Given the description of an element on the screen output the (x, y) to click on. 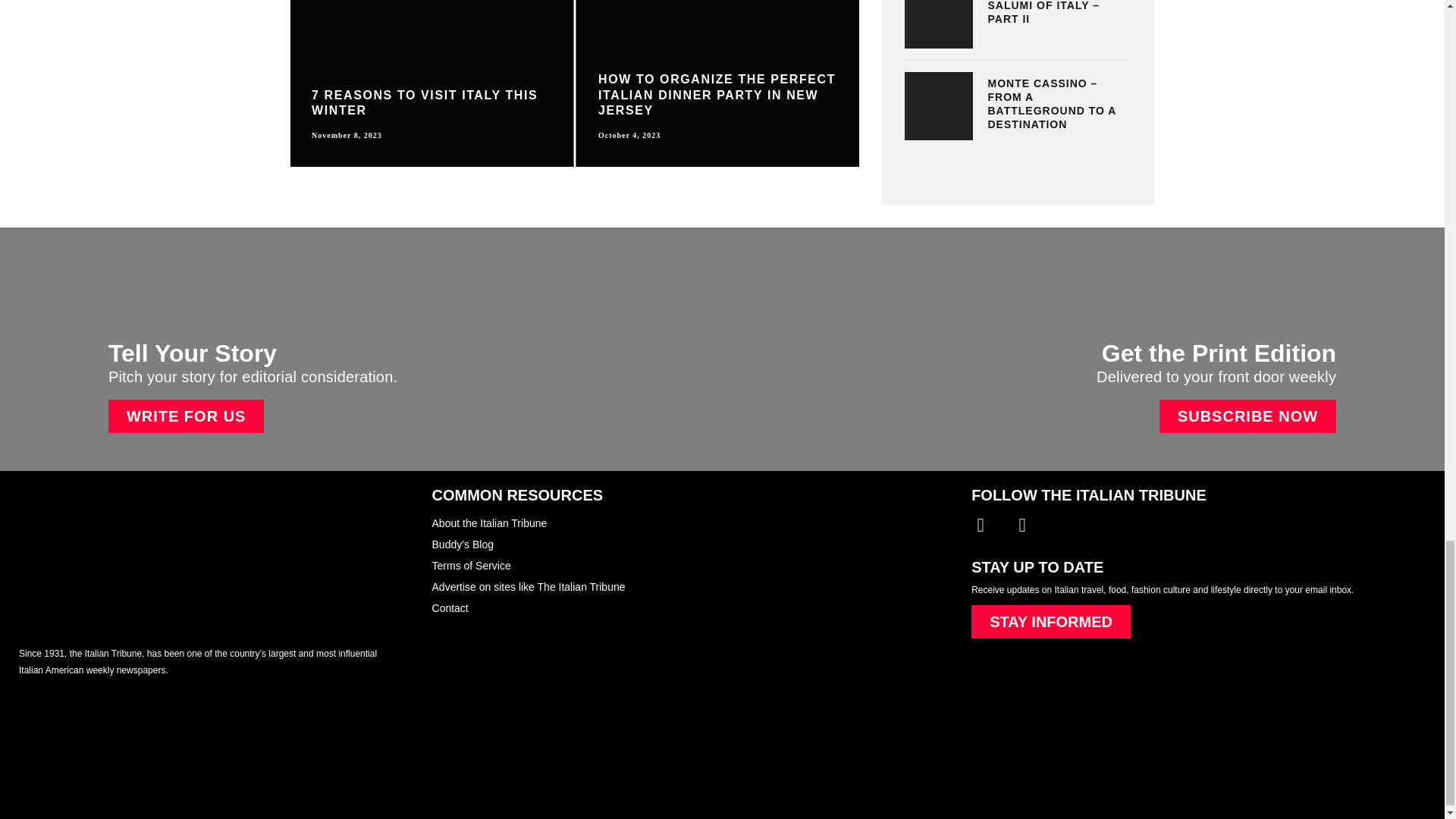
Aitken-Media-Logo-Light.png (111, 760)
